Given the description of an element on the screen output the (x, y) to click on. 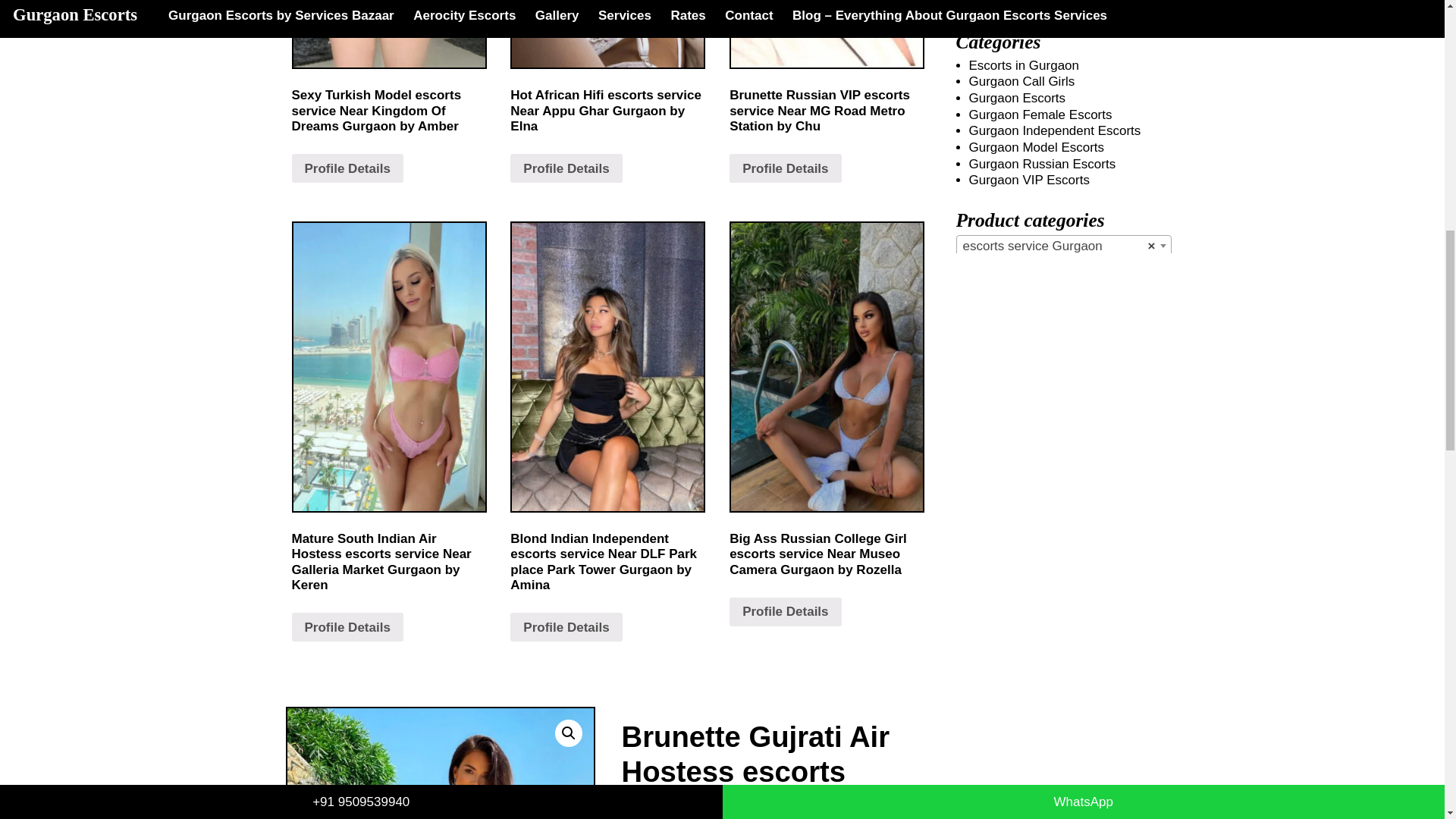
Profile Details (347, 626)
Profile Details (785, 167)
Profile Details (566, 167)
escorts service Gurgaon (1063, 246)
zona (440, 762)
Profile Details (347, 167)
Profile Details (785, 611)
